Given the description of an element on the screen output the (x, y) to click on. 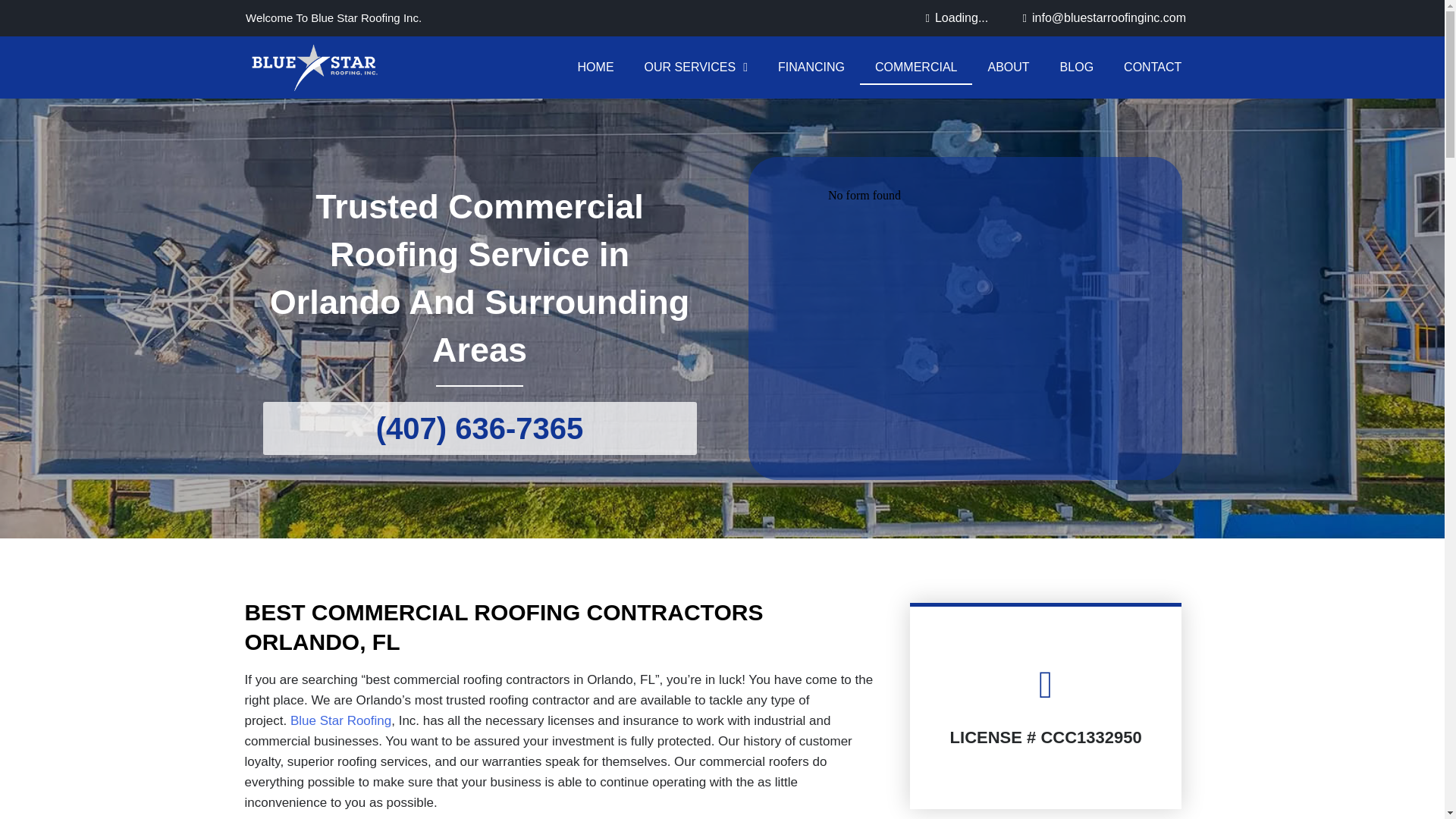
BLOG (1076, 67)
ABOUT (1007, 67)
Loading... (961, 17)
CONTACT (1152, 67)
Blue Star Roofing (340, 720)
OUR SERVICES (695, 67)
HOME (595, 67)
COMMERCIAL (916, 67)
FINANCING (811, 67)
